Given the description of an element on the screen output the (x, y) to click on. 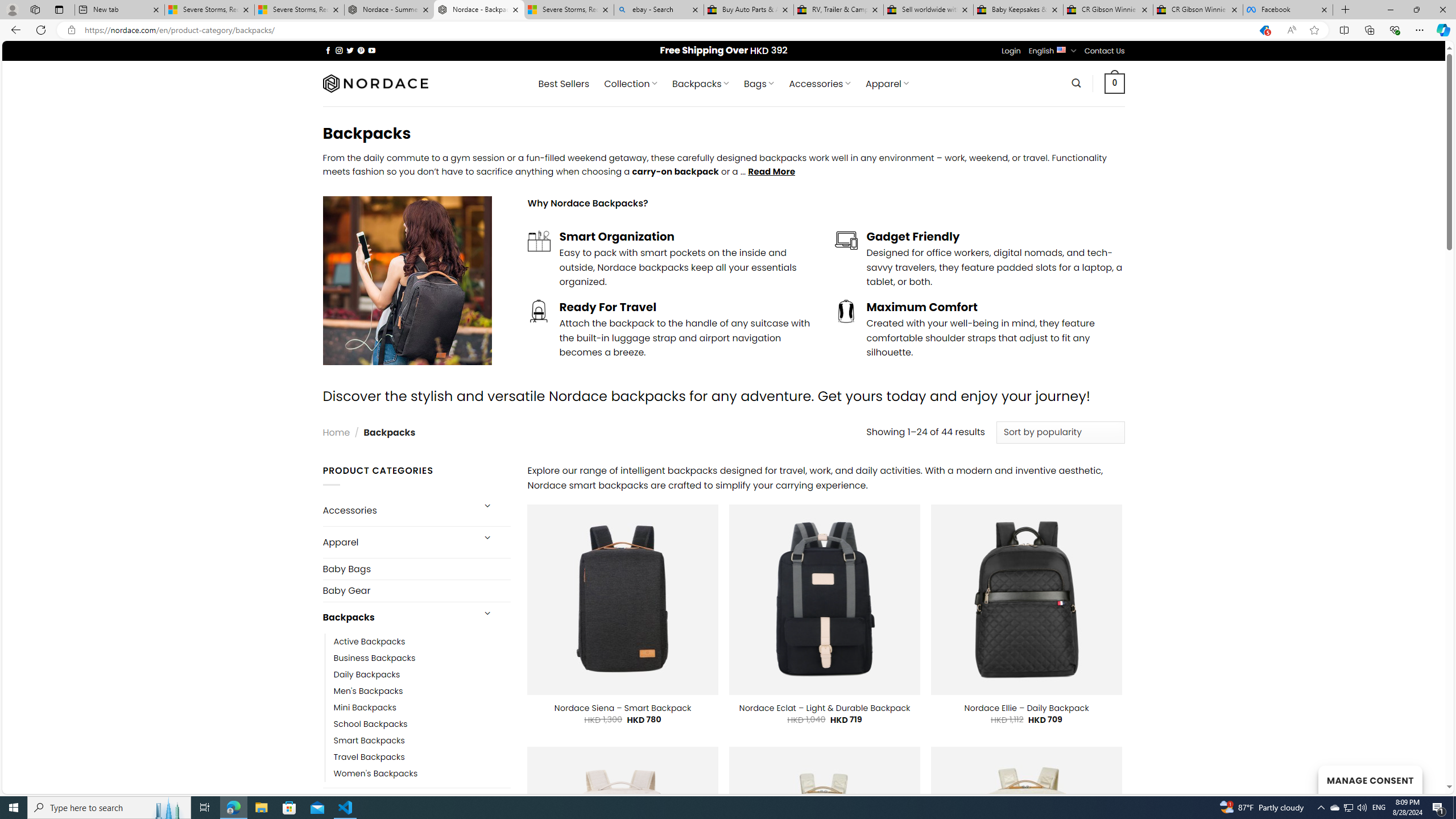
Active Backpacks (369, 641)
